Given the description of an element on the screen output the (x, y) to click on. 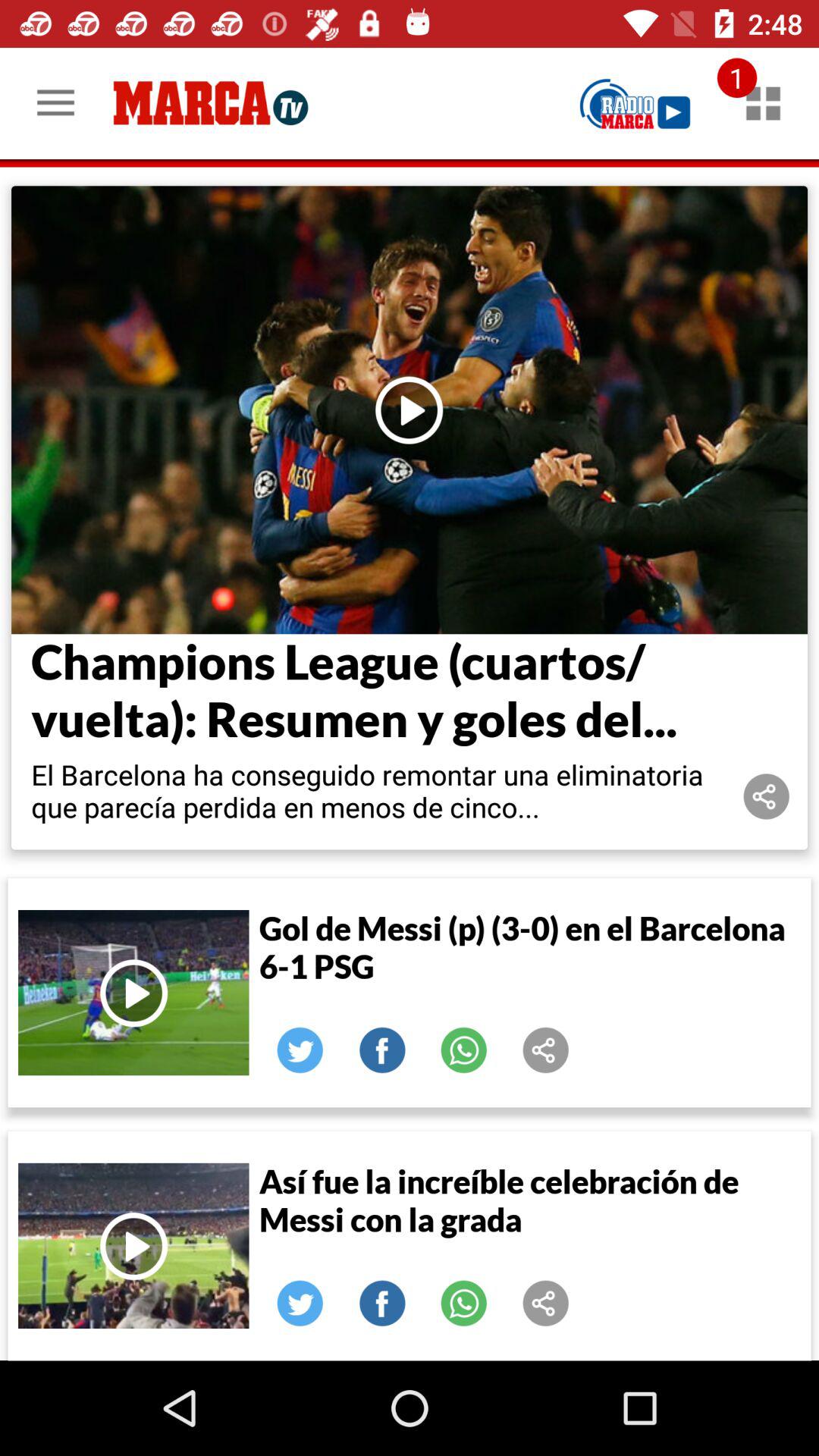
share article or video (766, 796)
